Given the description of an element on the screen output the (x, y) to click on. 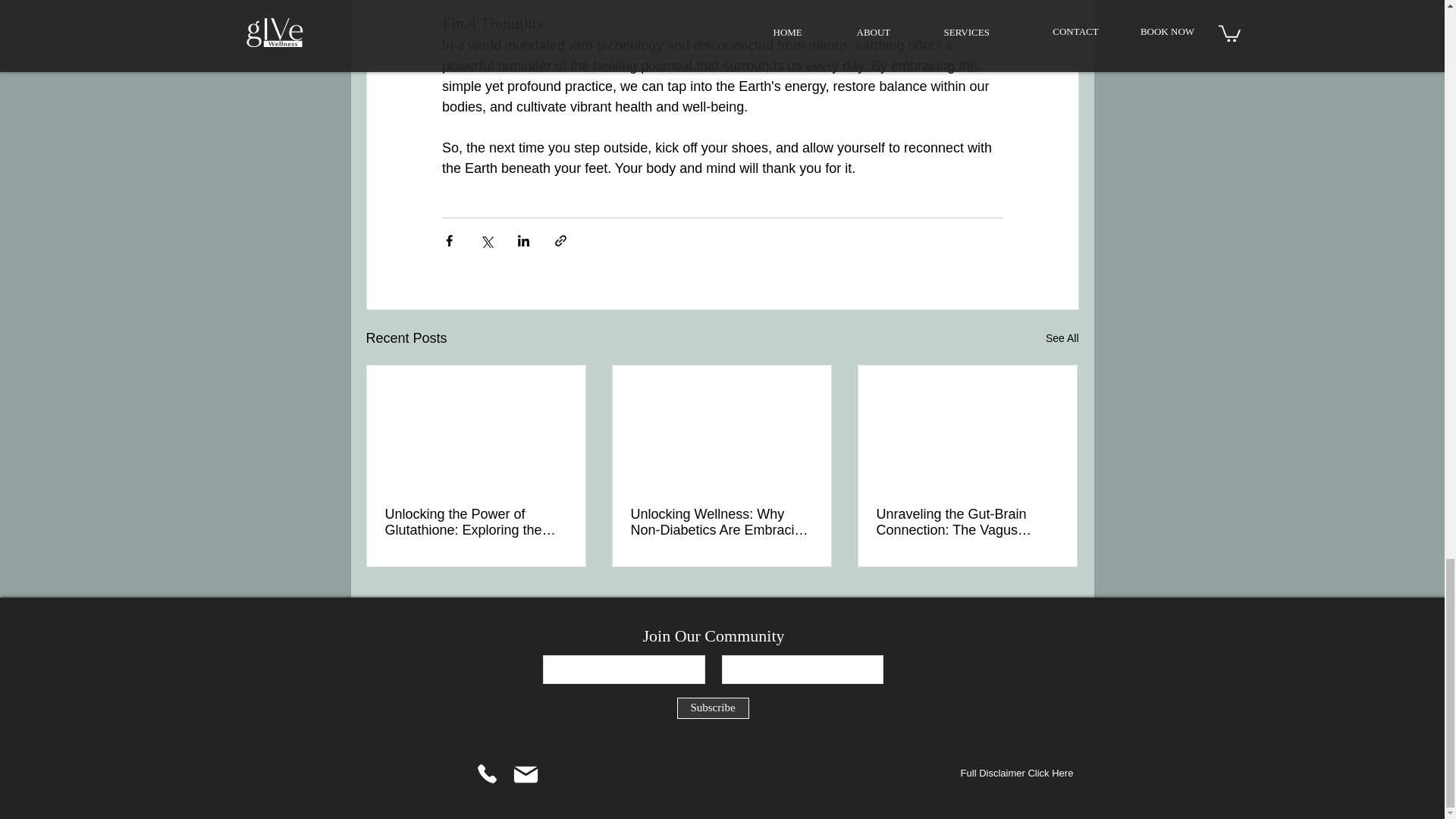
Full Disclaimer Click Here (1016, 773)
See All (1061, 338)
Subscribe (712, 708)
